Given the description of an element on the screen output the (x, y) to click on. 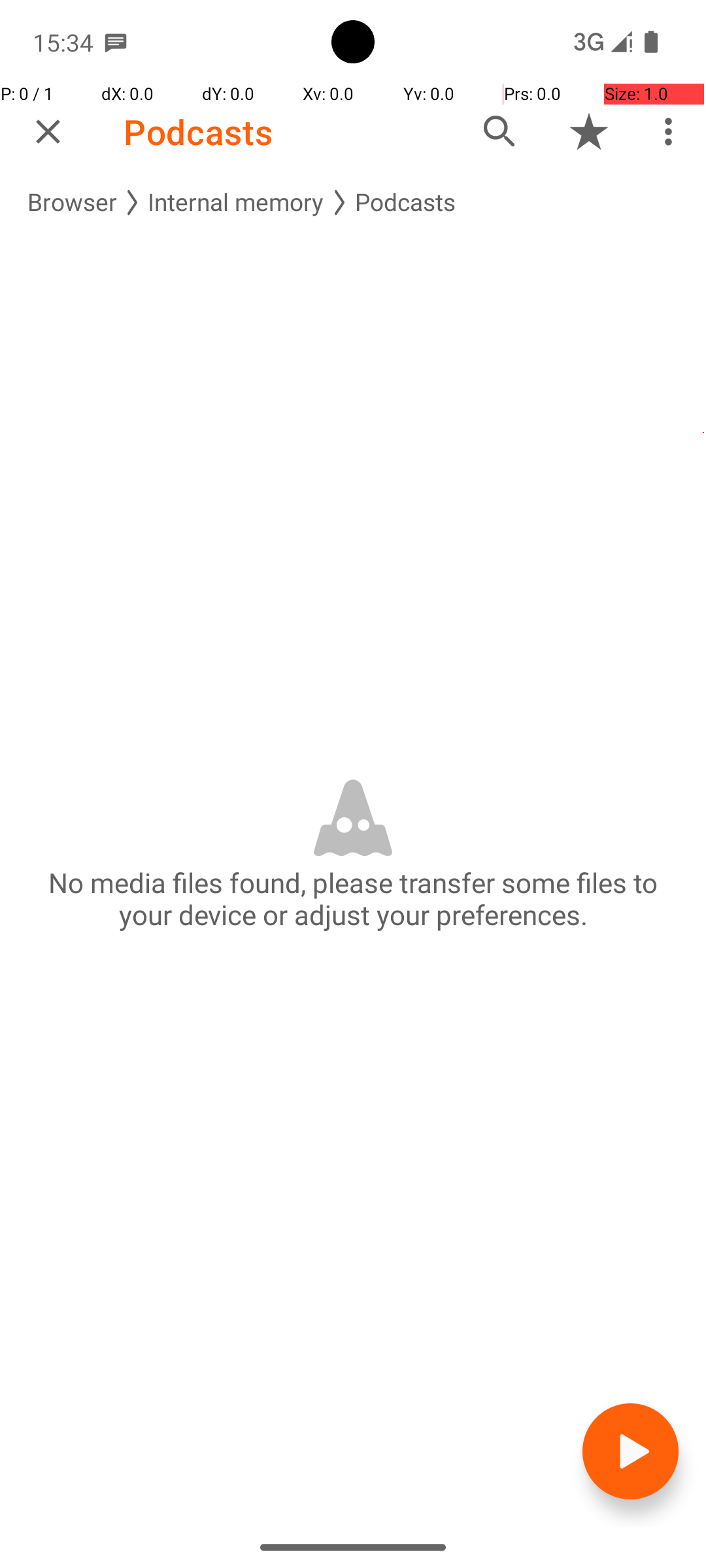
Podcasts Element type: android.widget.TextView (197, 131)
No media files found, please transfer some files to your device or adjust your preferences. Element type: android.widget.TextView (352, 897)
Play Element type: android.widget.ImageButton (630, 1451)
Browser Element type: android.widget.TextView (72, 202)
Internal memory Element type: android.widget.TextView (235, 202)
